Given the description of an element on the screen output the (x, y) to click on. 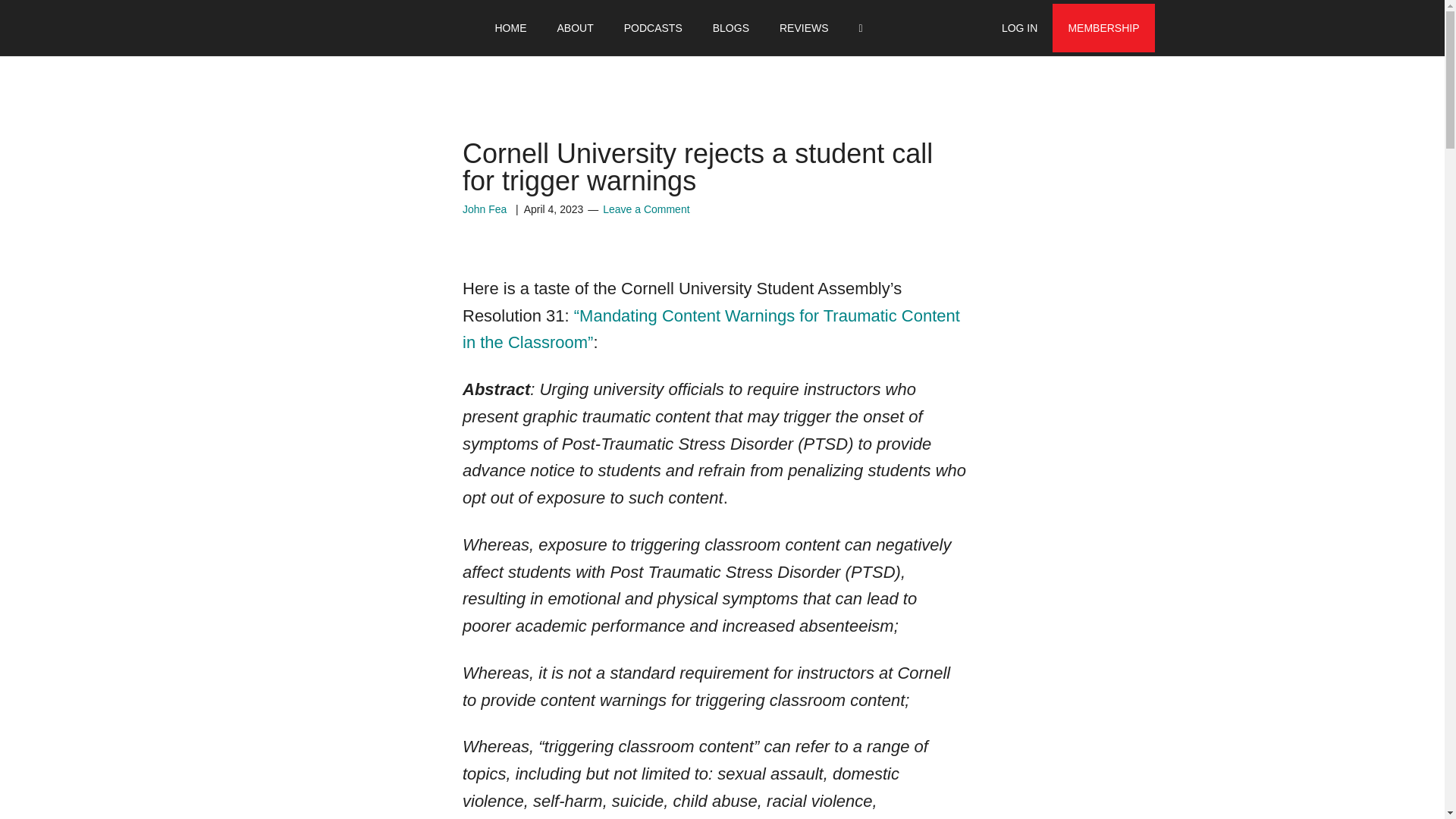
VITA (567, 28)
BLOGS (730, 28)
MEDIA REQUESTS (808, 28)
HOME (510, 28)
ABOUT JOHN (491, 28)
SPEAKING (705, 28)
PODCASTS (652, 28)
Leave a Comment (645, 209)
John Fea (484, 209)
